Given the description of an element on the screen output the (x, y) to click on. 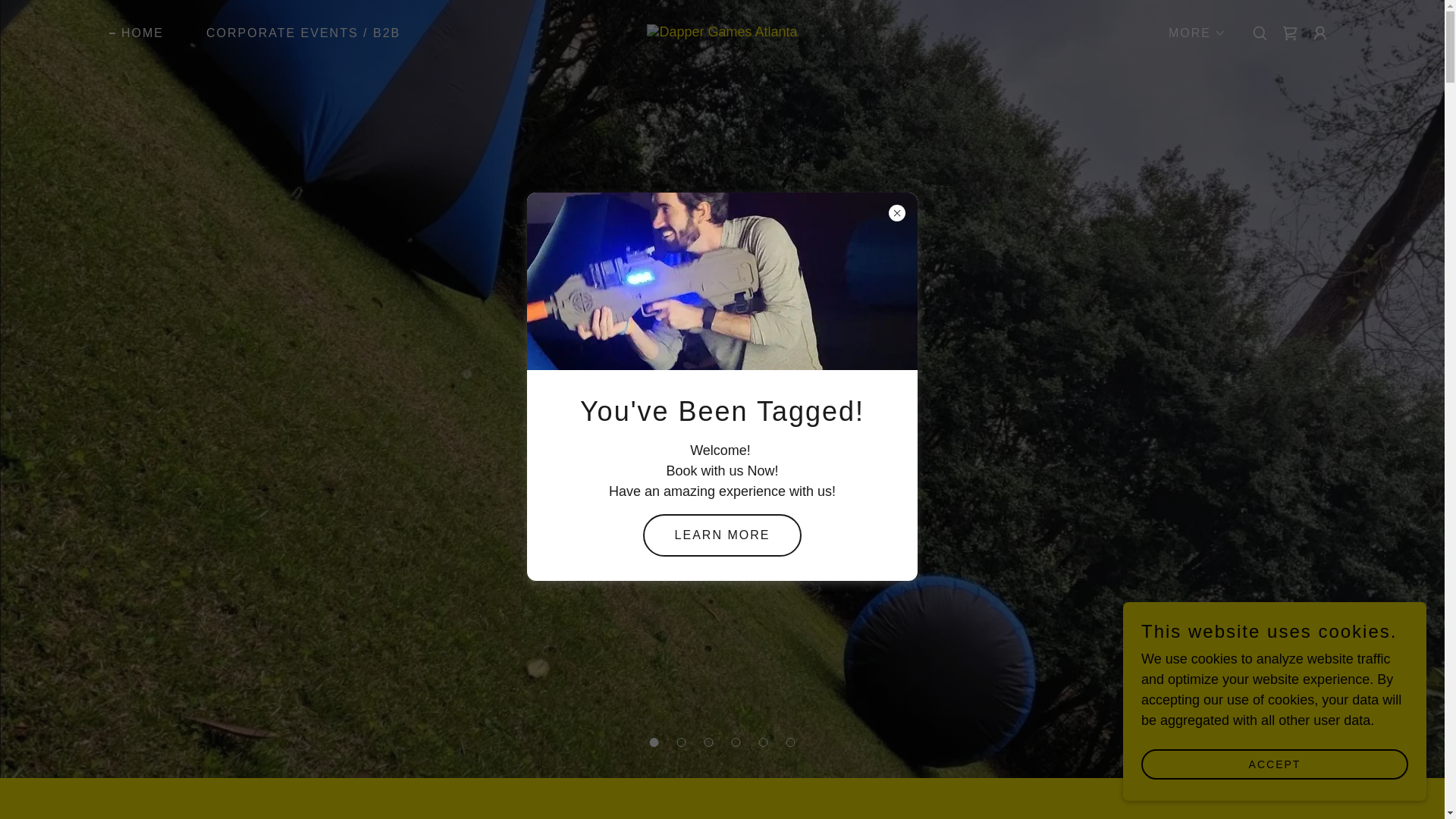
HOME (136, 33)
MORE (1190, 33)
Dapper Games Atlanta (722, 29)
